Given the description of an element on the screen output the (x, y) to click on. 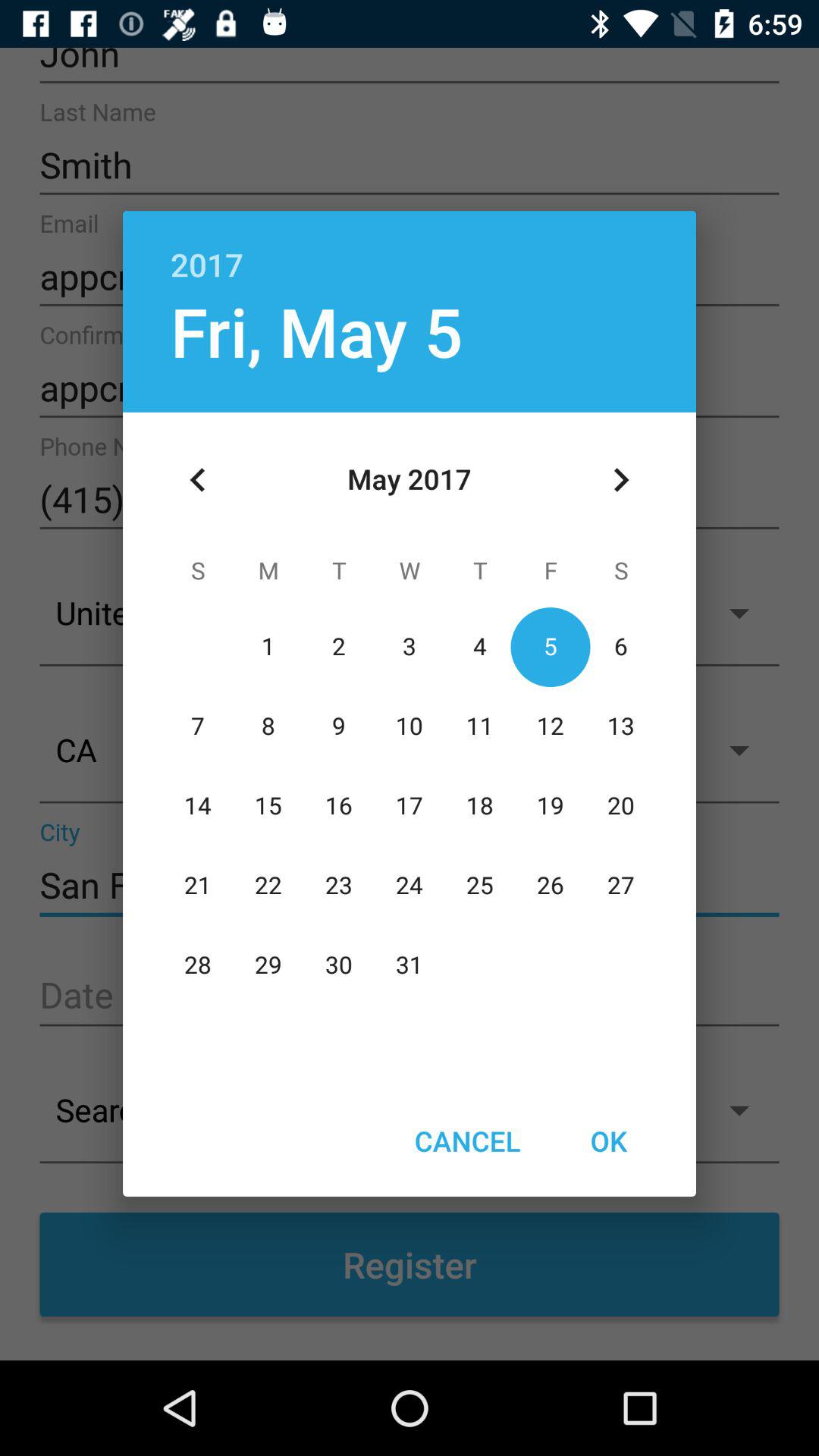
launch ok icon (608, 1140)
